Given the description of an element on the screen output the (x, y) to click on. 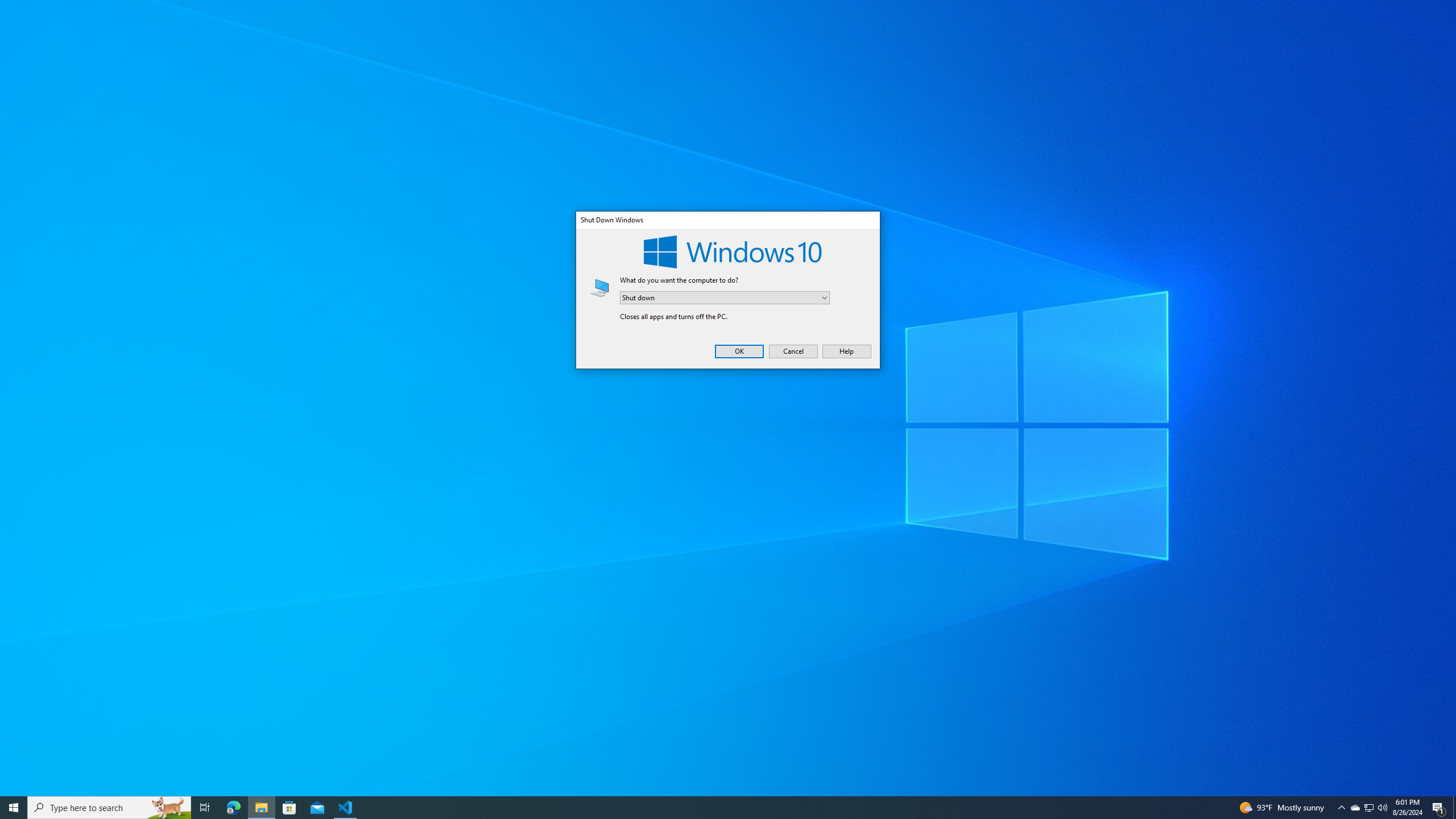
Microsoft Store (289, 807)
User Promoted Notification Area (1368, 807)
File Explorer - 1 running window (261, 807)
Running applications (717, 807)
Start (13, 807)
OK (1368, 807)
Type here to search (739, 350)
Q2790: 100% (108, 807)
Action Center, 1 new notification (1382, 807)
AutomationID: 2027 (1439, 807)
